Given the description of an element on the screen output the (x, y) to click on. 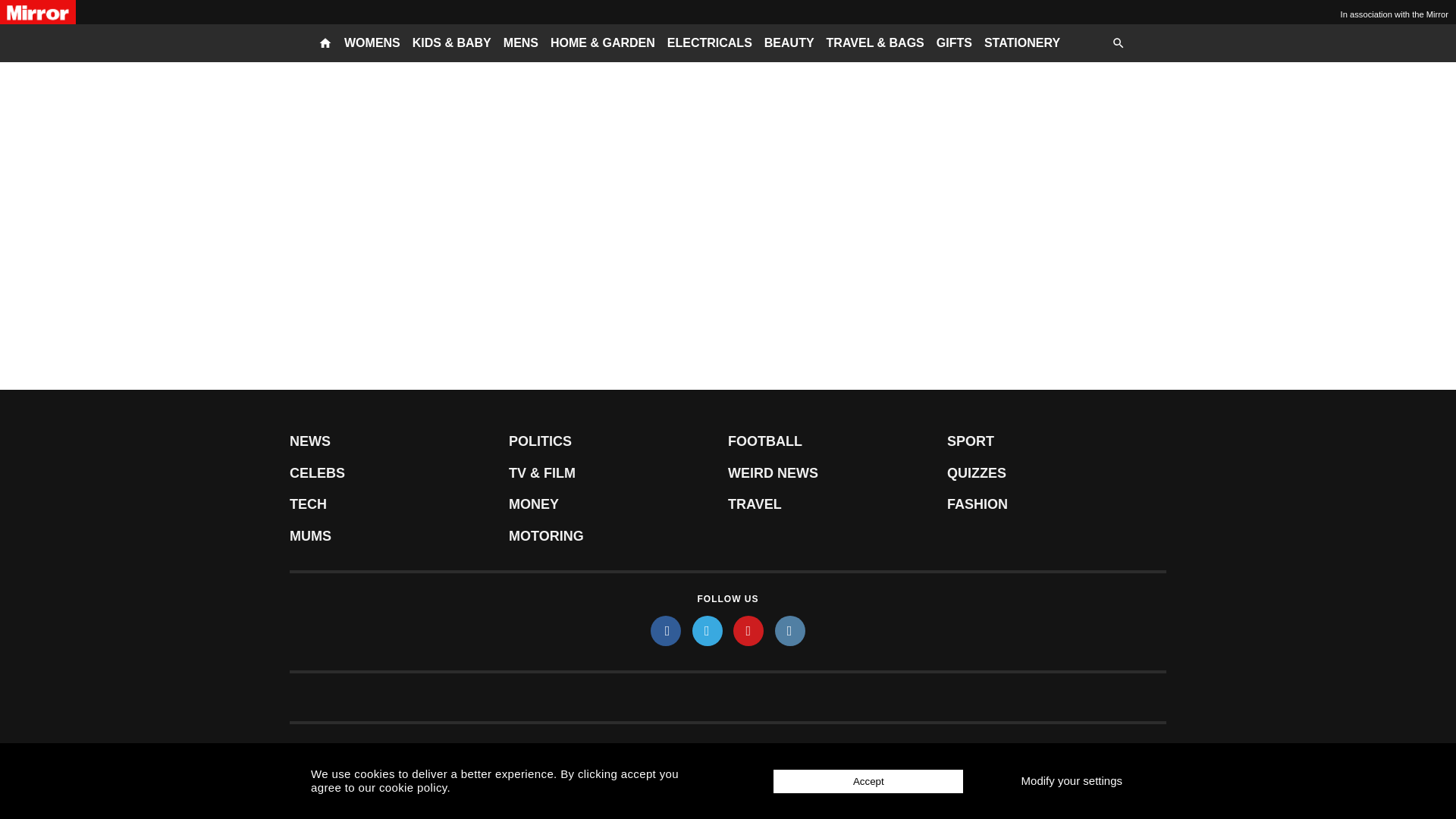
NEWS (398, 441)
twitter (707, 630)
FASHION (1056, 504)
CELEBS (398, 473)
instagram (789, 630)
FOOTBALL (837, 441)
GIFTS (954, 43)
Cookie Notice. (819, 752)
Pricing and Stock Issues. (340, 752)
BEAUTY (788, 43)
